Given the description of an element on the screen output the (x, y) to click on. 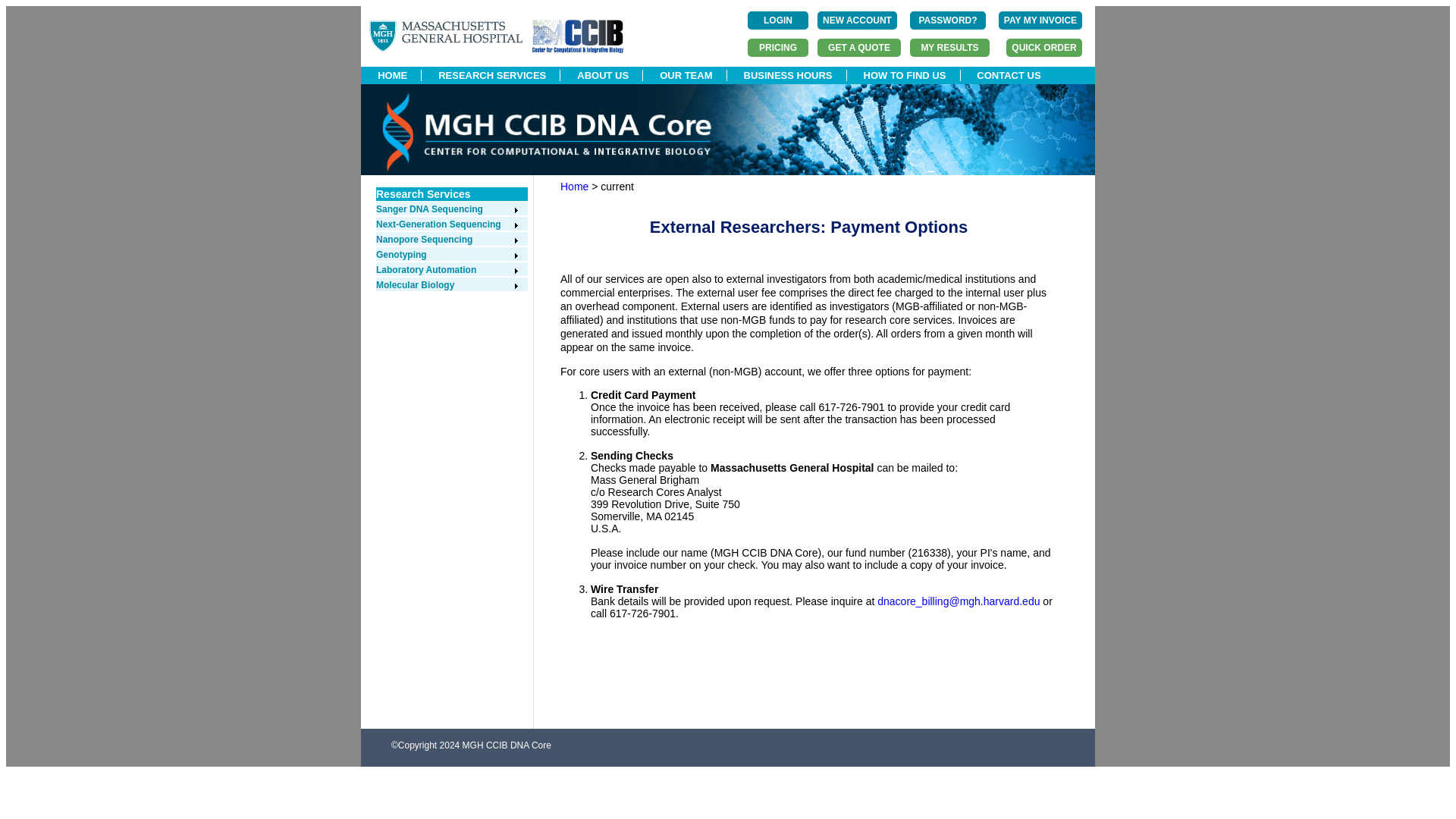
OUR TEAM (686, 75)
Research Services (422, 193)
ABOUT US (602, 75)
NEW ACCOUNT (856, 20)
PASSWORD? (947, 20)
Next-Generation Sequencing (447, 224)
Genotyping (447, 254)
HOW TO FIND US (903, 75)
CONTACT US (1008, 75)
Sanger DNA Sequencing (447, 208)
NEW ACCOUNT (856, 20)
Nanopore Sequencing (447, 239)
MY RESULTS (950, 47)
HOME (392, 75)
PASSWORD? (947, 20)
